Given the description of an element on the screen output the (x, y) to click on. 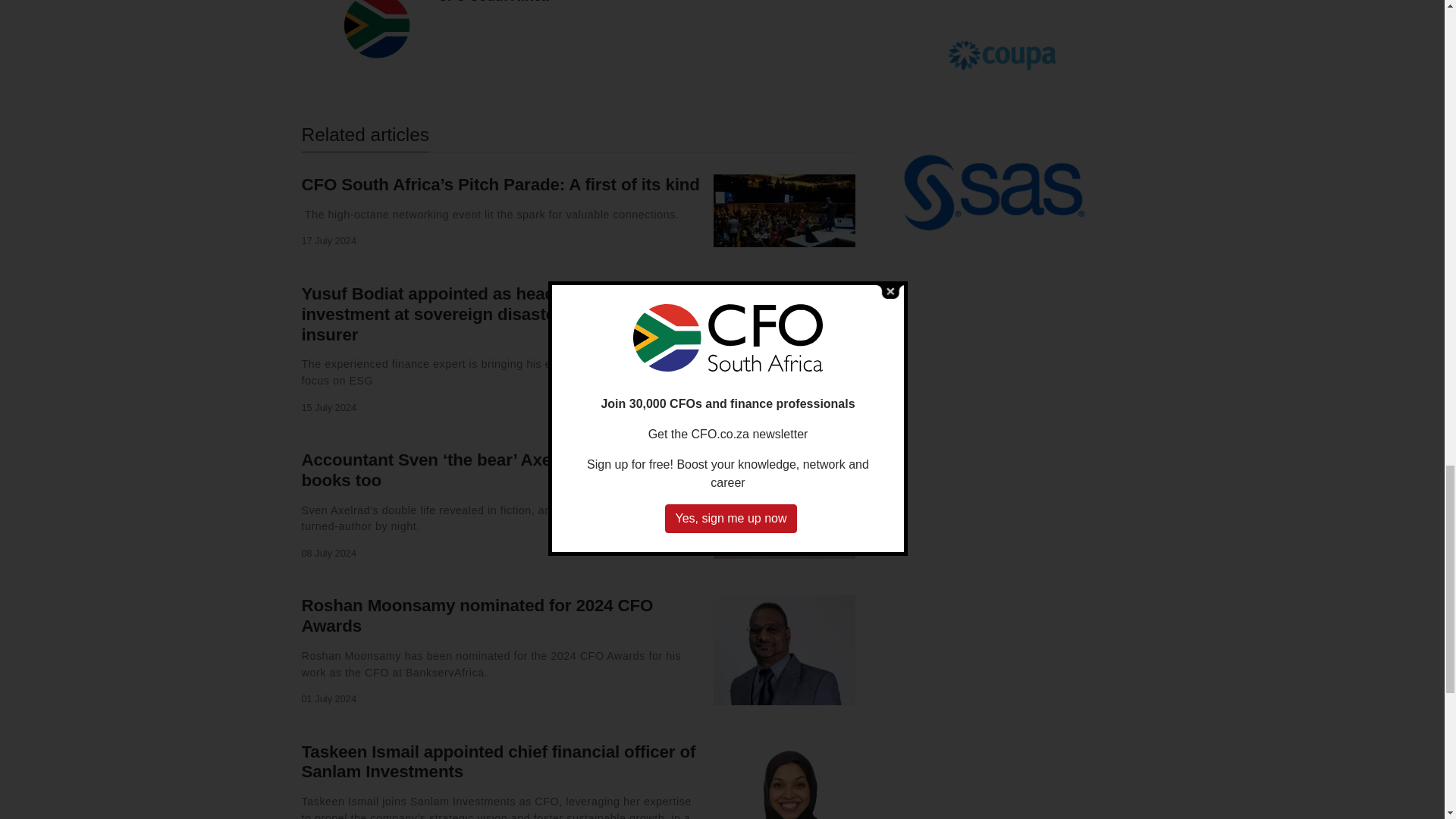
Roshan Moonsamy nominated for 2024 CFO Awards (477, 615)
CFO South Africa (493, 2)
CFO South Africa (493, 2)
